Given the description of an element on the screen output the (x, y) to click on. 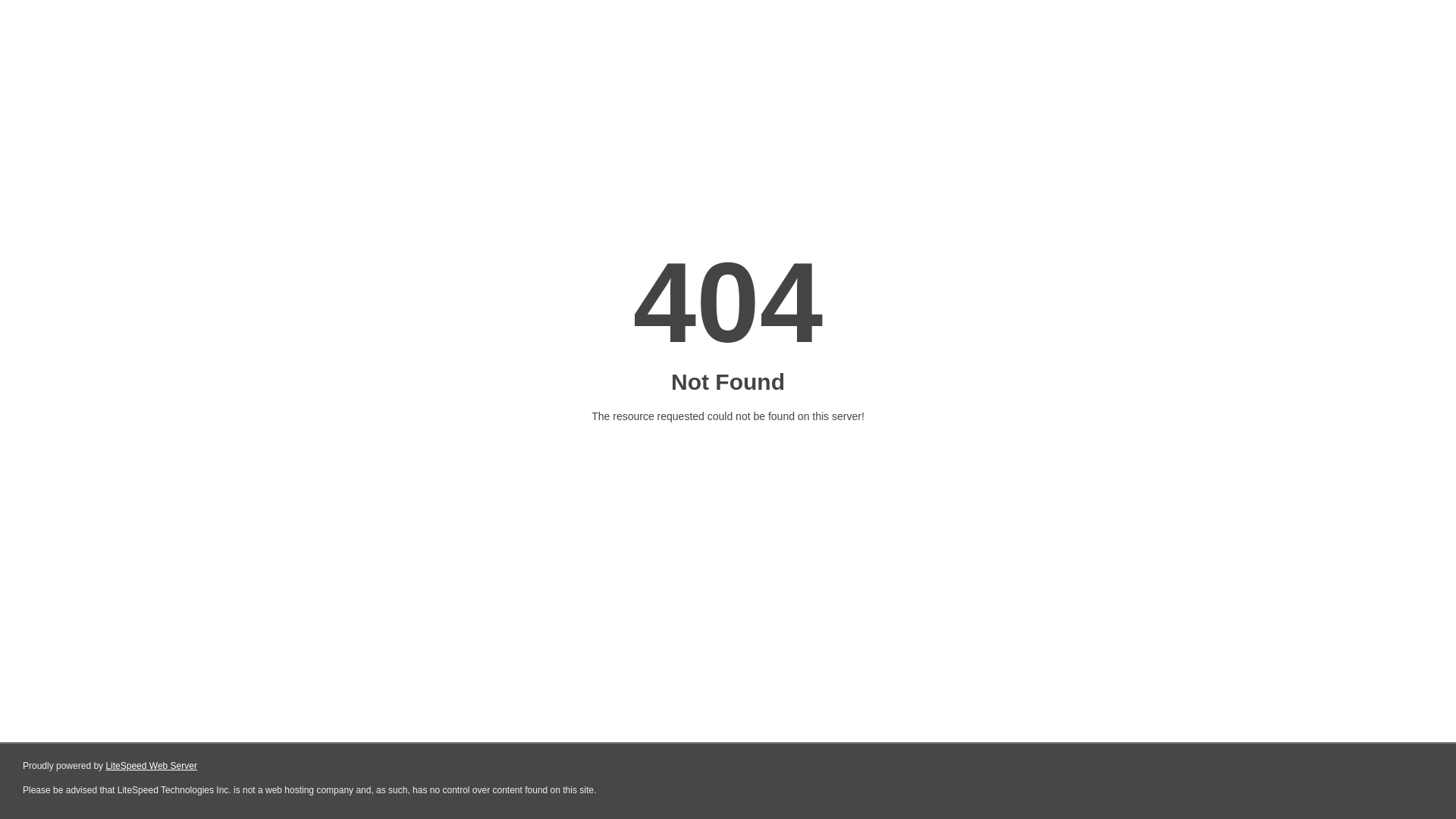
LiteSpeed Web Server Element type: text (151, 765)
